Given the description of an element on the screen output the (x, y) to click on. 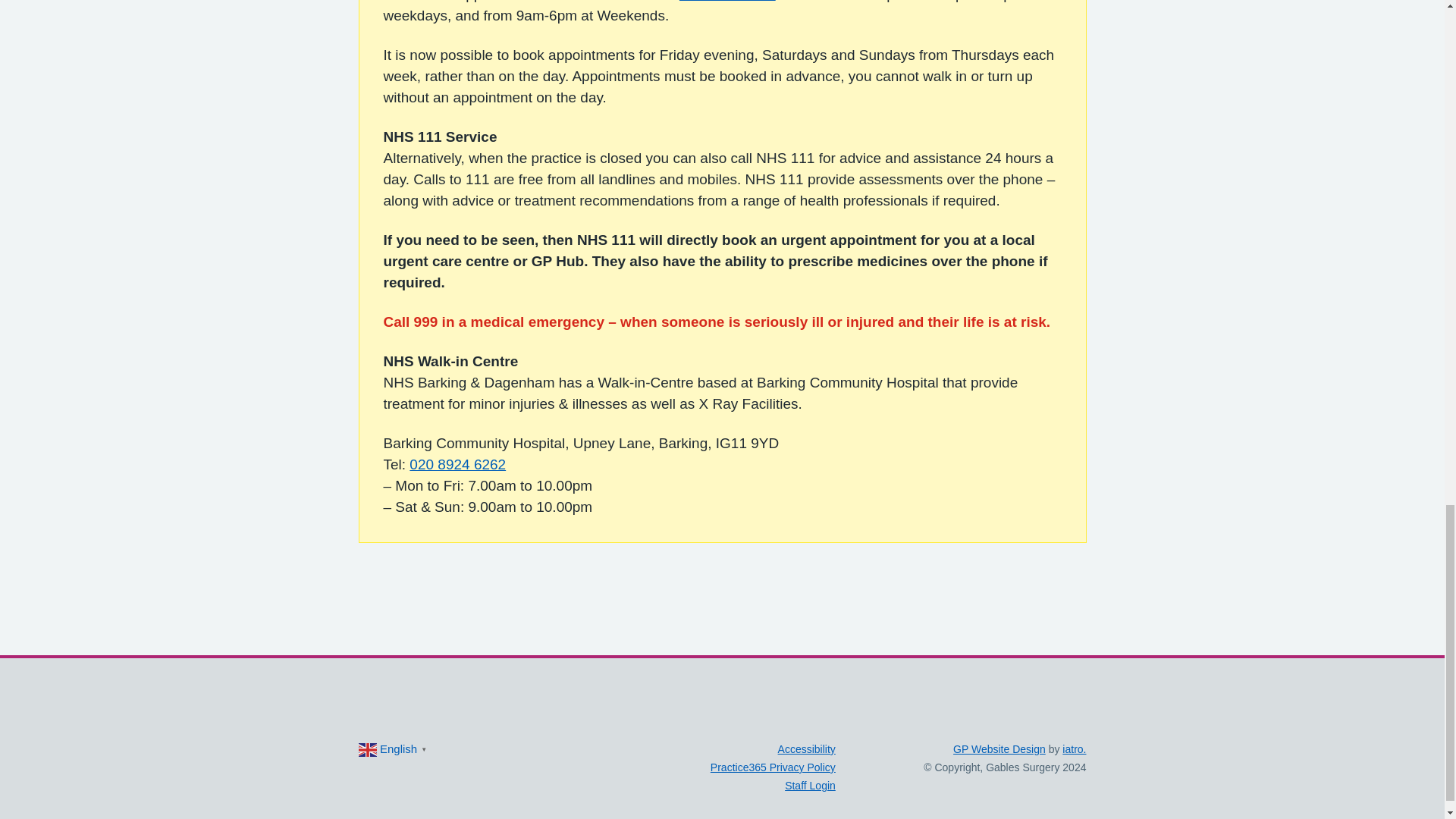
GP Website Design (999, 748)
Accessibility (806, 748)
iatro. (1074, 748)
Staff Login (809, 785)
Practice365 Privacy Policy (772, 767)
020 8924 6262 (457, 464)
020 3770 1888 (727, 1)
